Given the description of an element on the screen output the (x, y) to click on. 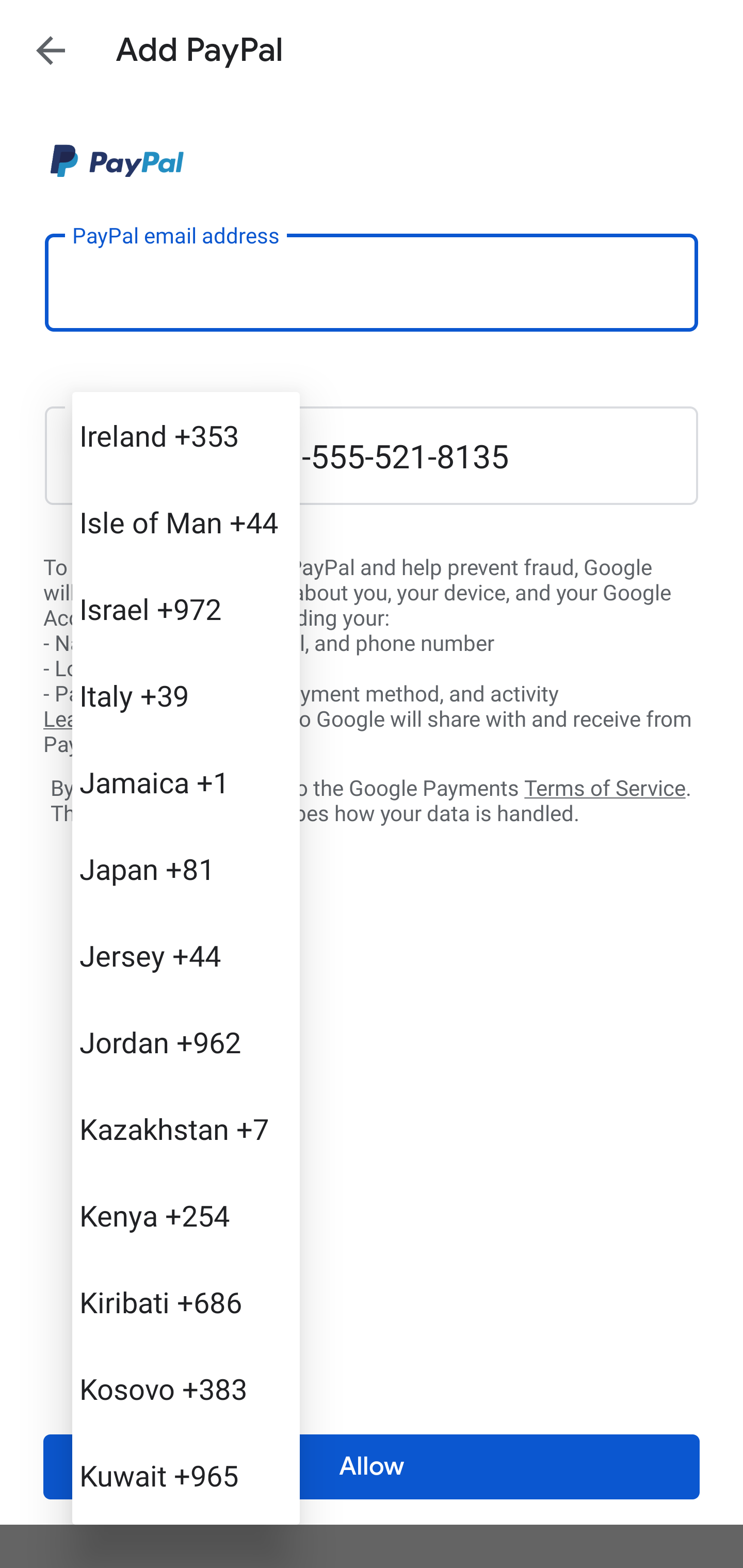
Ireland +353 (185, 435)
Isle of Man +44 (185, 522)
Israel +972 (185, 609)
Italy +39 (185, 695)
Jamaica +1 (185, 781)
Japan +81 (185, 868)
Jersey +44 (185, 955)
Jordan +962 (185, 1041)
Kazakhstan +7 (185, 1128)
Kenya +254 (185, 1215)
Kiribati +686 (185, 1302)
Kosovo +383 (185, 1388)
Kuwait +965 (185, 1474)
